Given the description of an element on the screen output the (x, y) to click on. 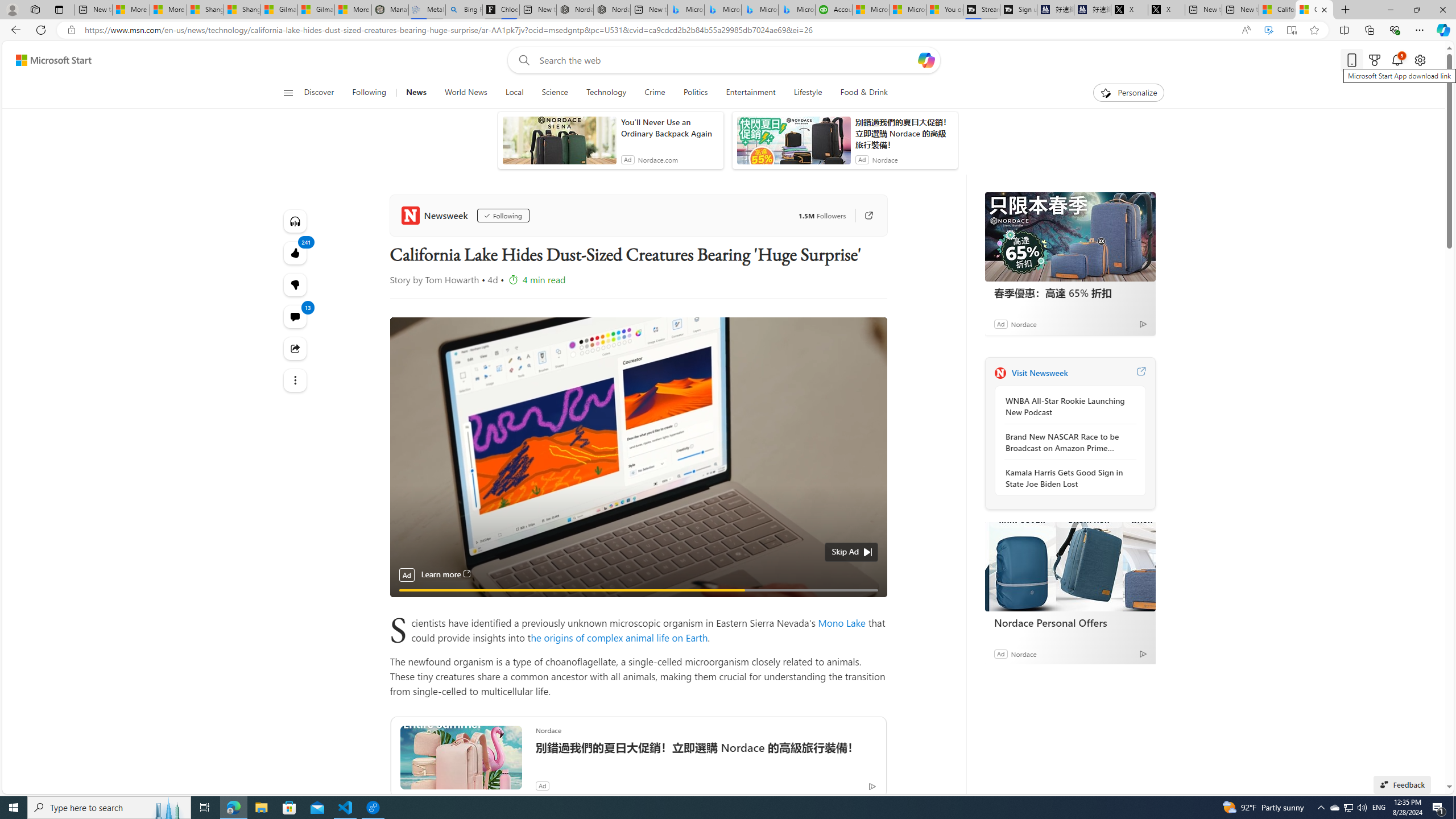
Visit Newsweek website (1140, 372)
Crime (654, 92)
Personalize (1128, 92)
Nordace Personal Offers (1069, 622)
Technology (605, 92)
Entertainment (750, 92)
Food & Drink (859, 92)
